Given the description of an element on the screen output the (x, y) to click on. 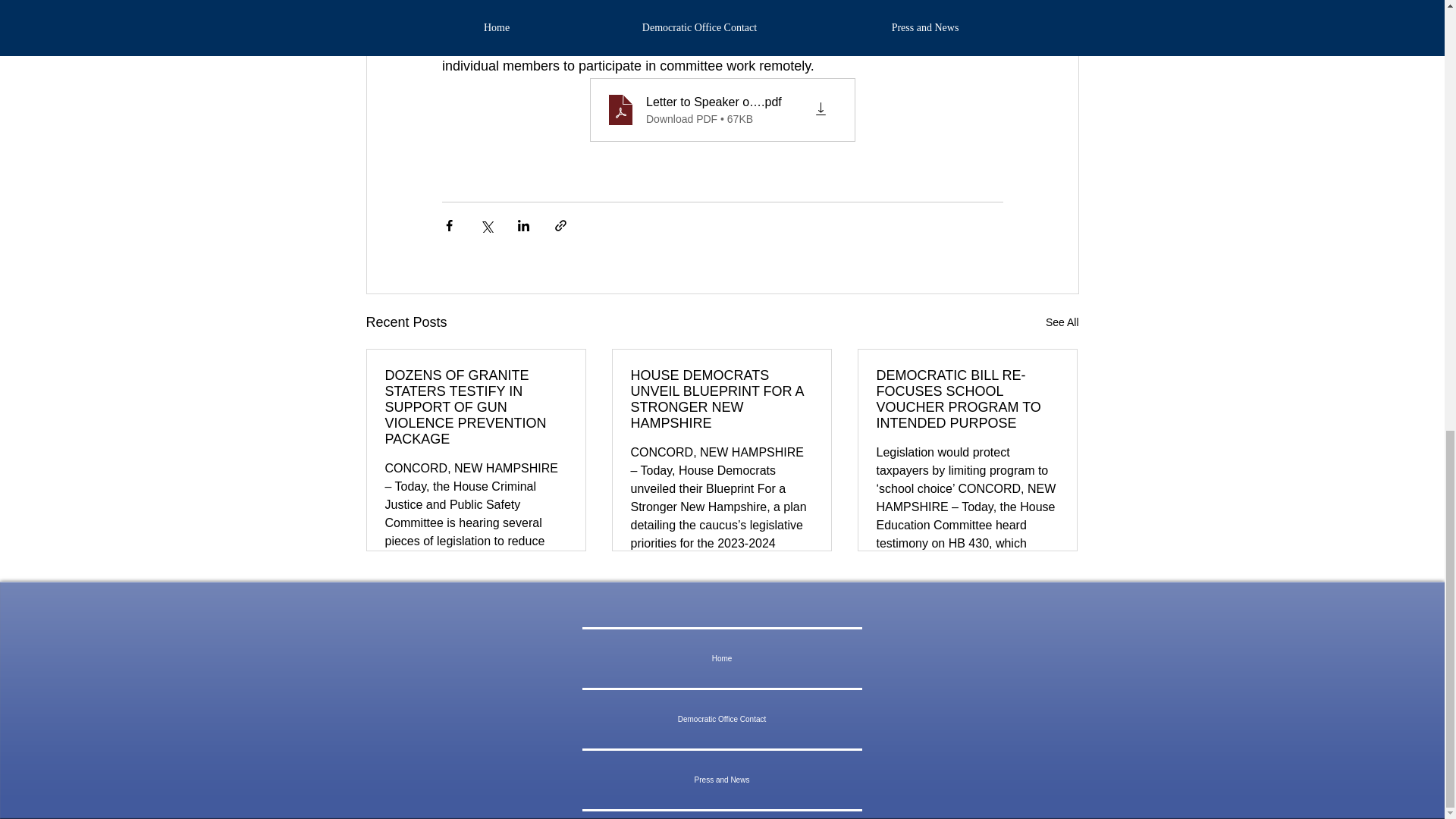
Democratic Office Contact (721, 719)
See All (1061, 322)
Press and News (721, 780)
Home (721, 658)
